Given the description of an element on the screen output the (x, y) to click on. 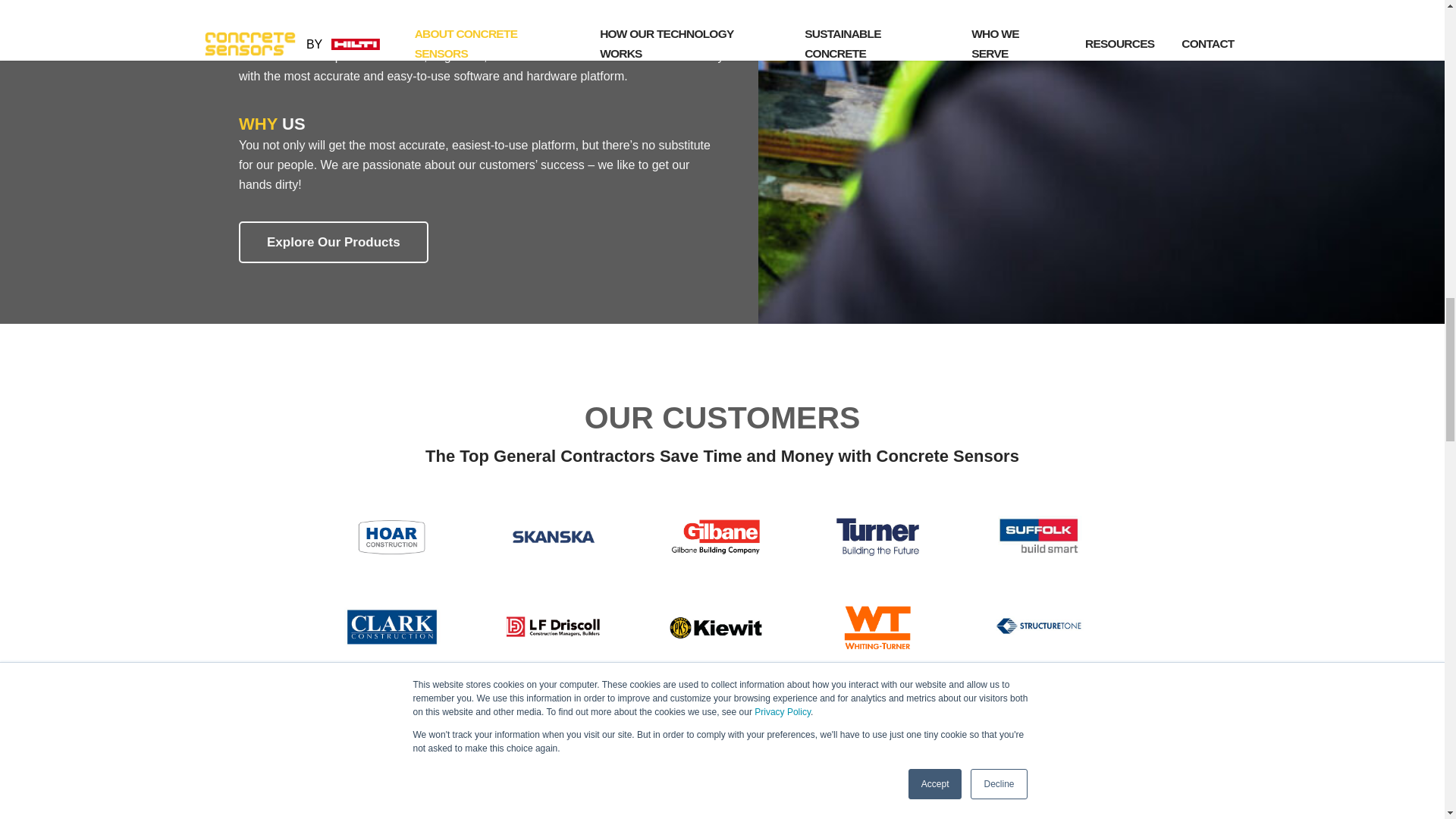
Explore Our Products (333, 241)
